Given the description of an element on the screen output the (x, y) to click on. 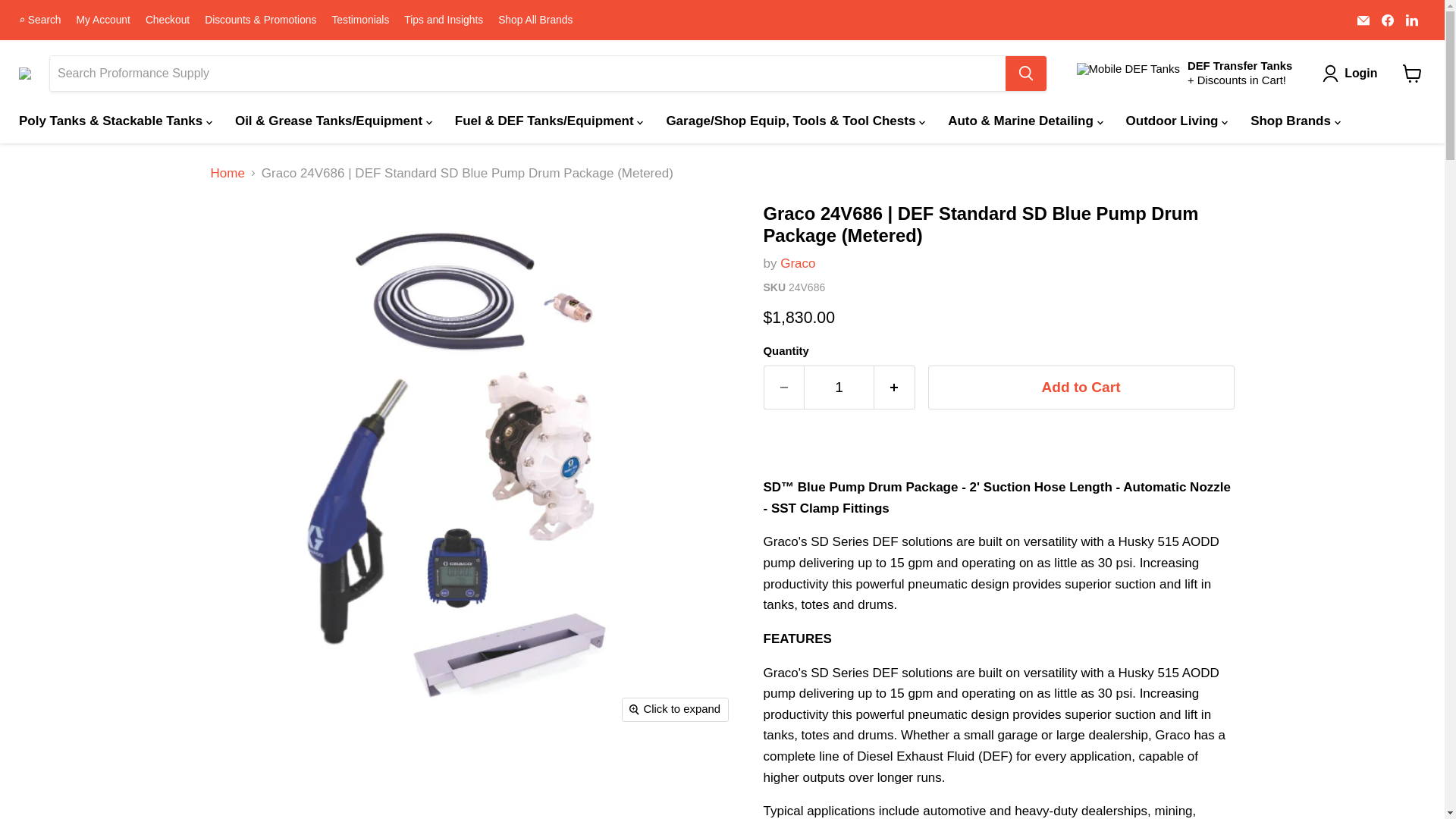
LinkedIn (1411, 19)
1 (839, 387)
Tips and Insights (443, 20)
Checkout (167, 20)
Find us on Email (1363, 19)
My Account (104, 20)
Shop All Brands (534, 20)
Find us on LinkedIn (1411, 19)
Testimonials (359, 20)
Login (1353, 73)
Email (1363, 19)
Facebook (1387, 19)
Graco (797, 263)
View Cart (1411, 73)
Find us on Facebook (1387, 19)
